Given the description of an element on the screen output the (x, y) to click on. 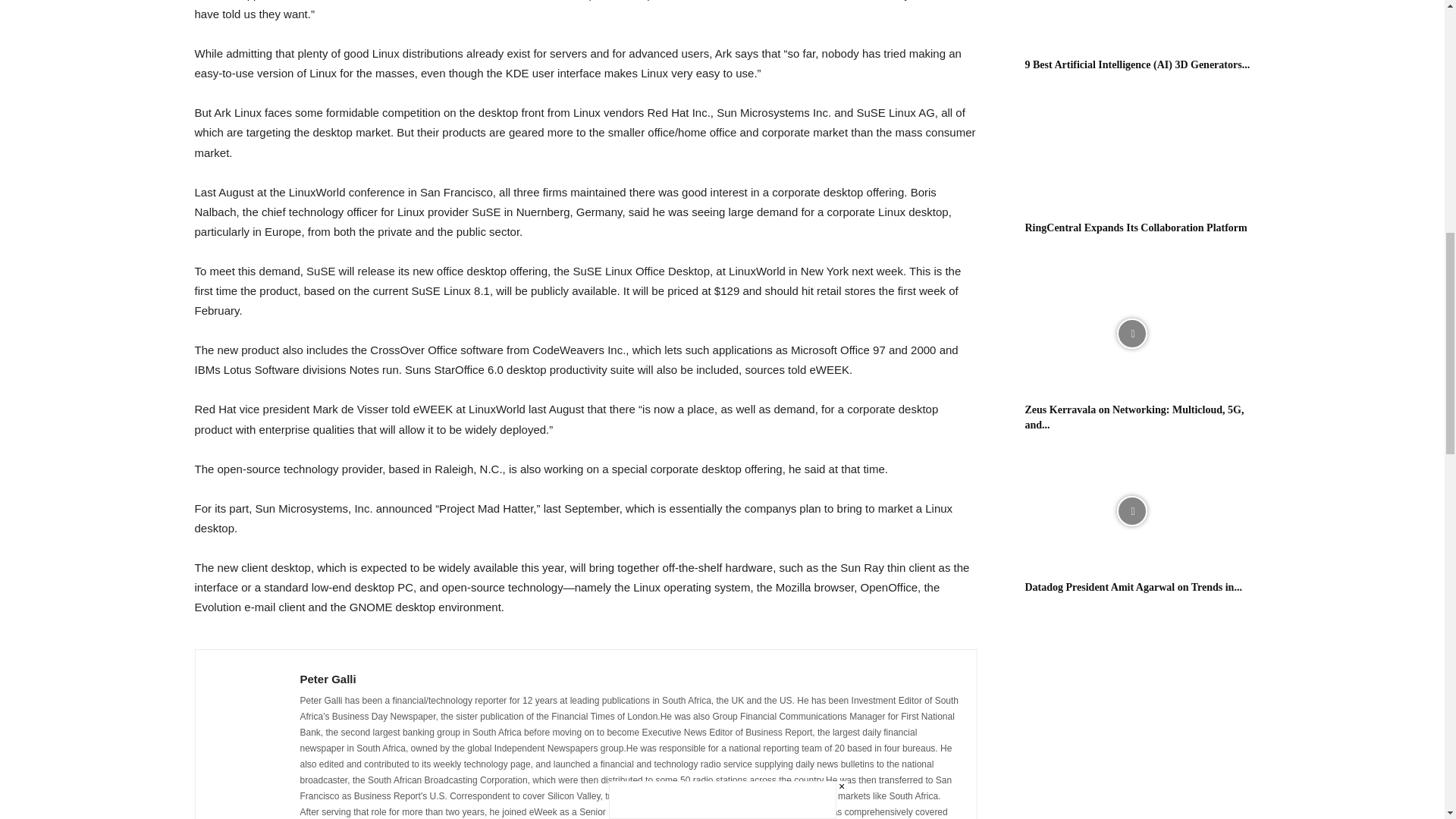
RingCentral Expands Its Collaboration Platform (1131, 151)
Zeus Kerravala on Networking: Multicloud, 5G, and Automation (1134, 417)
RingCentral Expands Its Collaboration Platform (1136, 227)
Zeus Kerravala on Networking: Multicloud, 5G, and Automation (1131, 333)
